Given the description of an element on the screen output the (x, y) to click on. 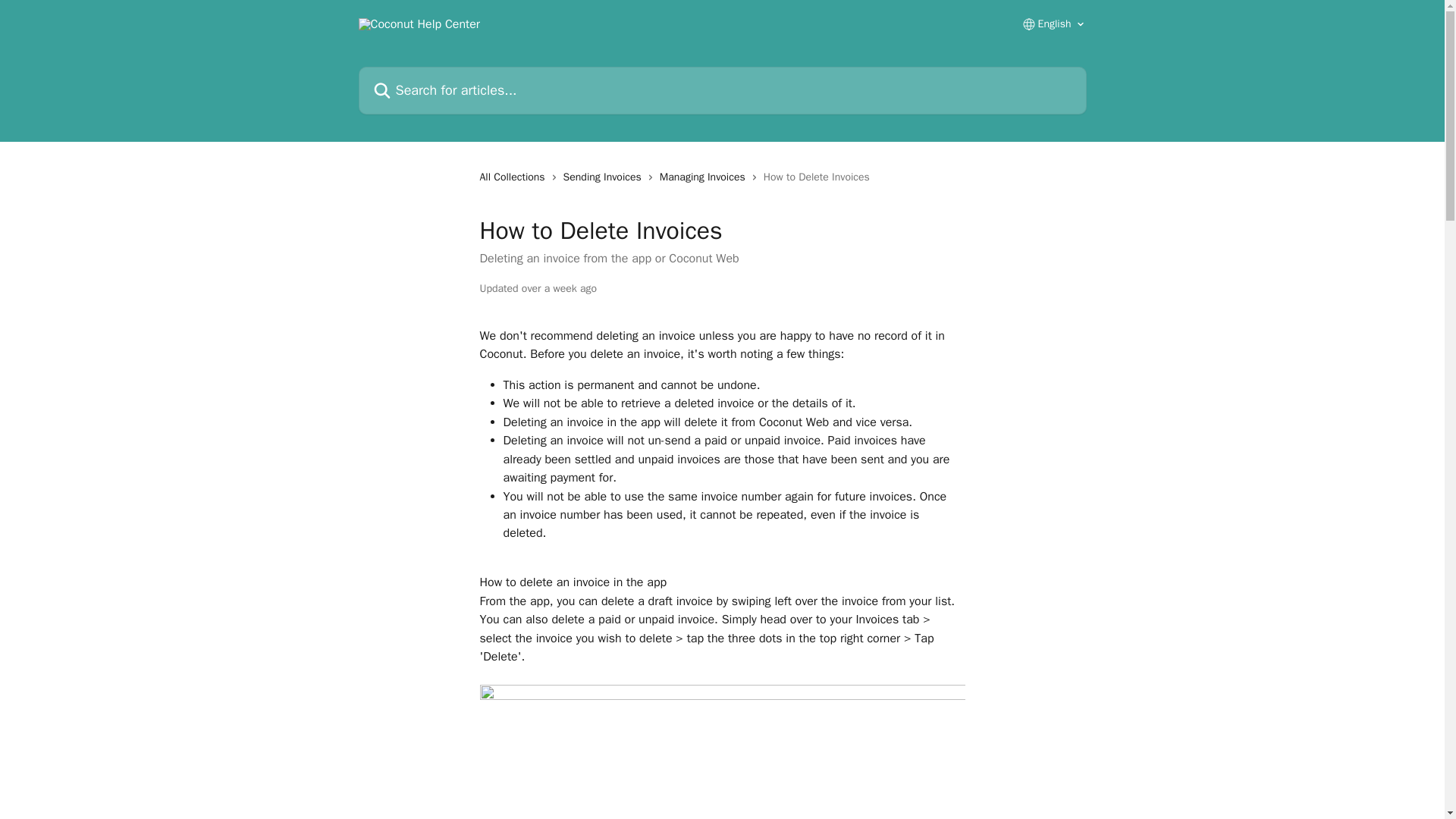
Sending Invoices (605, 176)
All Collections (514, 176)
Managing Invoices (705, 176)
